Given the description of an element on the screen output the (x, y) to click on. 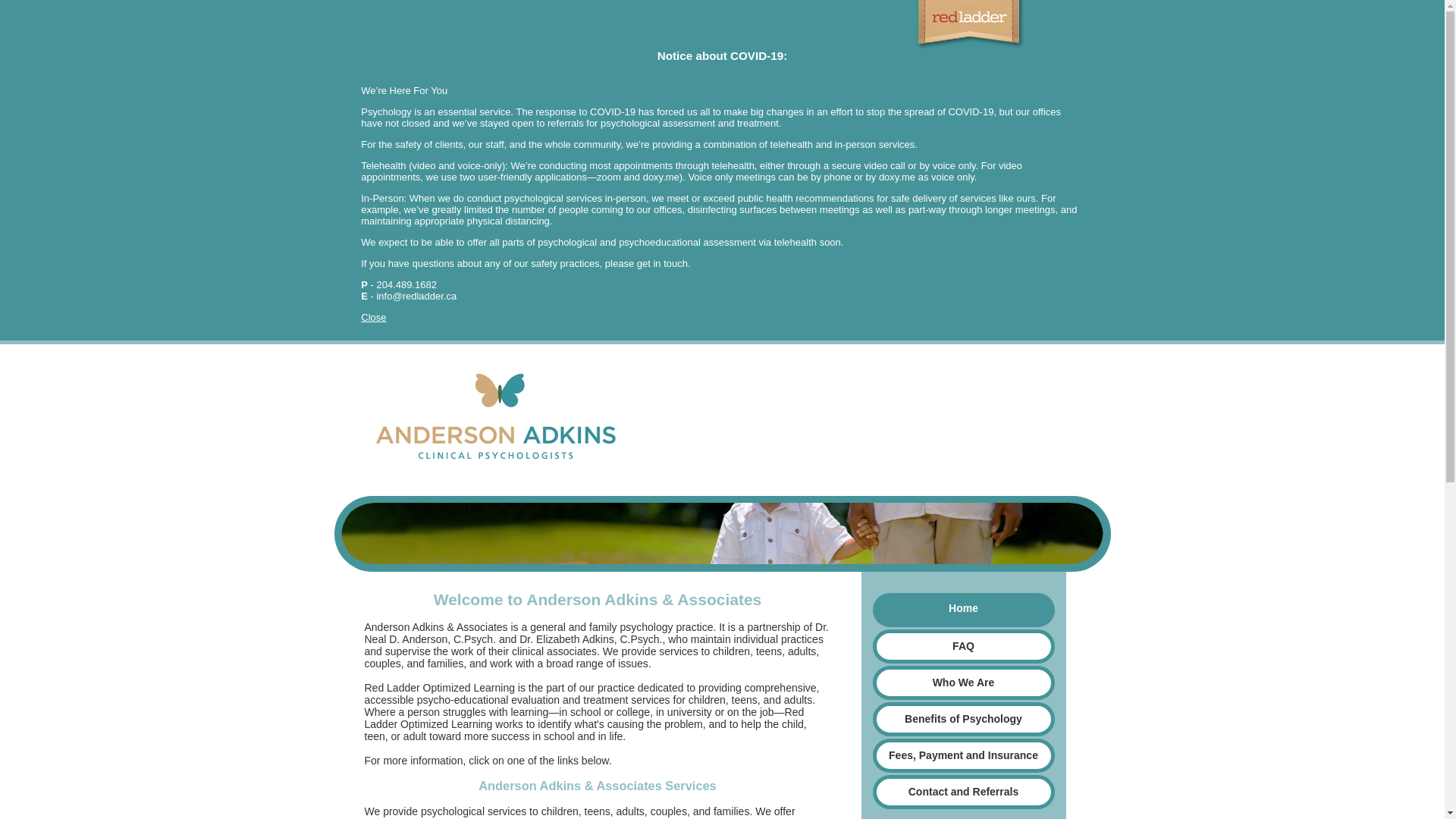
Close Element type: text (372, 317)
